Given the description of an element on the screen output the (x, y) to click on. 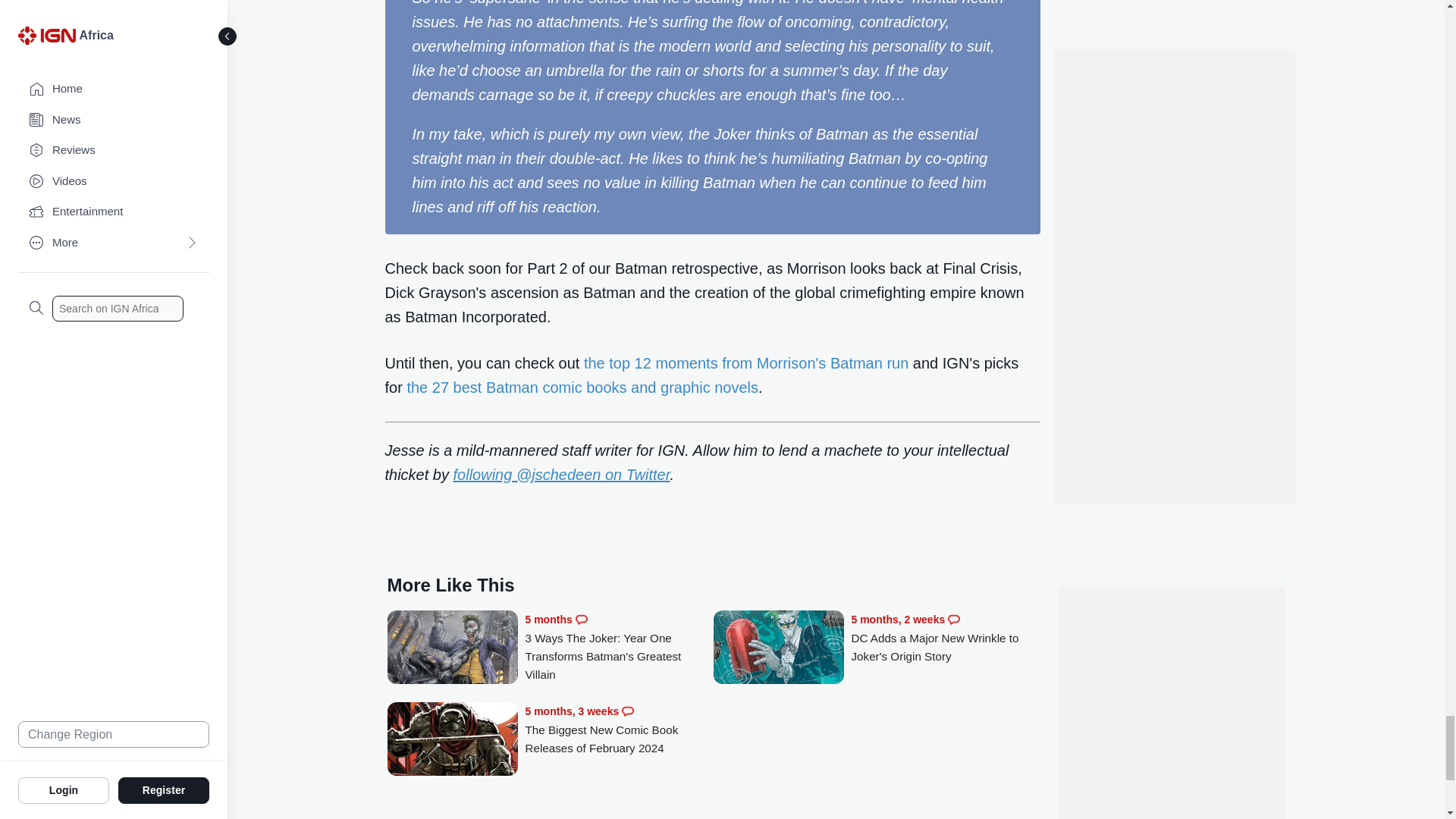
The Biggest New Comic Book Releases of February 2024 (451, 739)
DC Adds a Major New Wrinkle to Joker's Origin Story (944, 637)
The Biggest New Comic Book Releases of February 2024 (618, 729)
Comments (953, 619)
Comments (627, 711)
DC Adds a Major New Wrinkle to Joker's Origin Story (778, 648)
Comments (581, 619)
